Given the description of an element on the screen output the (x, y) to click on. 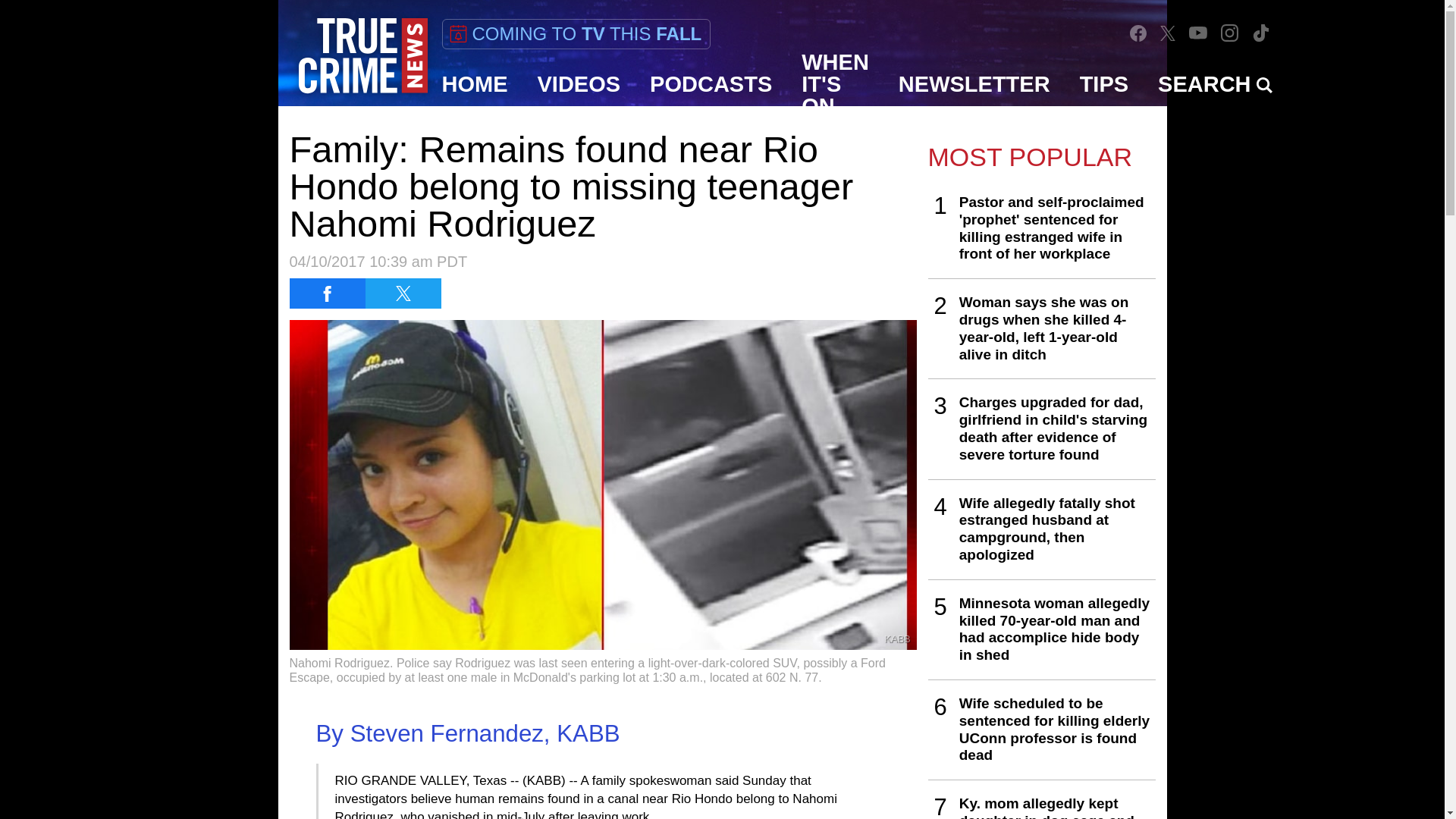
TIPS (1103, 84)
Twitter (1167, 32)
True Crime News (363, 56)
VIDEOS (579, 84)
YouTube (1198, 32)
PODCASTS (710, 84)
Twitter (1167, 32)
TikTok (1260, 32)
True Crime News (363, 56)
Instagram (1229, 32)
HOME (475, 84)
Facebook (1137, 33)
Instagram (1230, 32)
YouTube (1198, 32)
NEWSLETTER (974, 84)
